Given the description of an element on the screen output the (x, y) to click on. 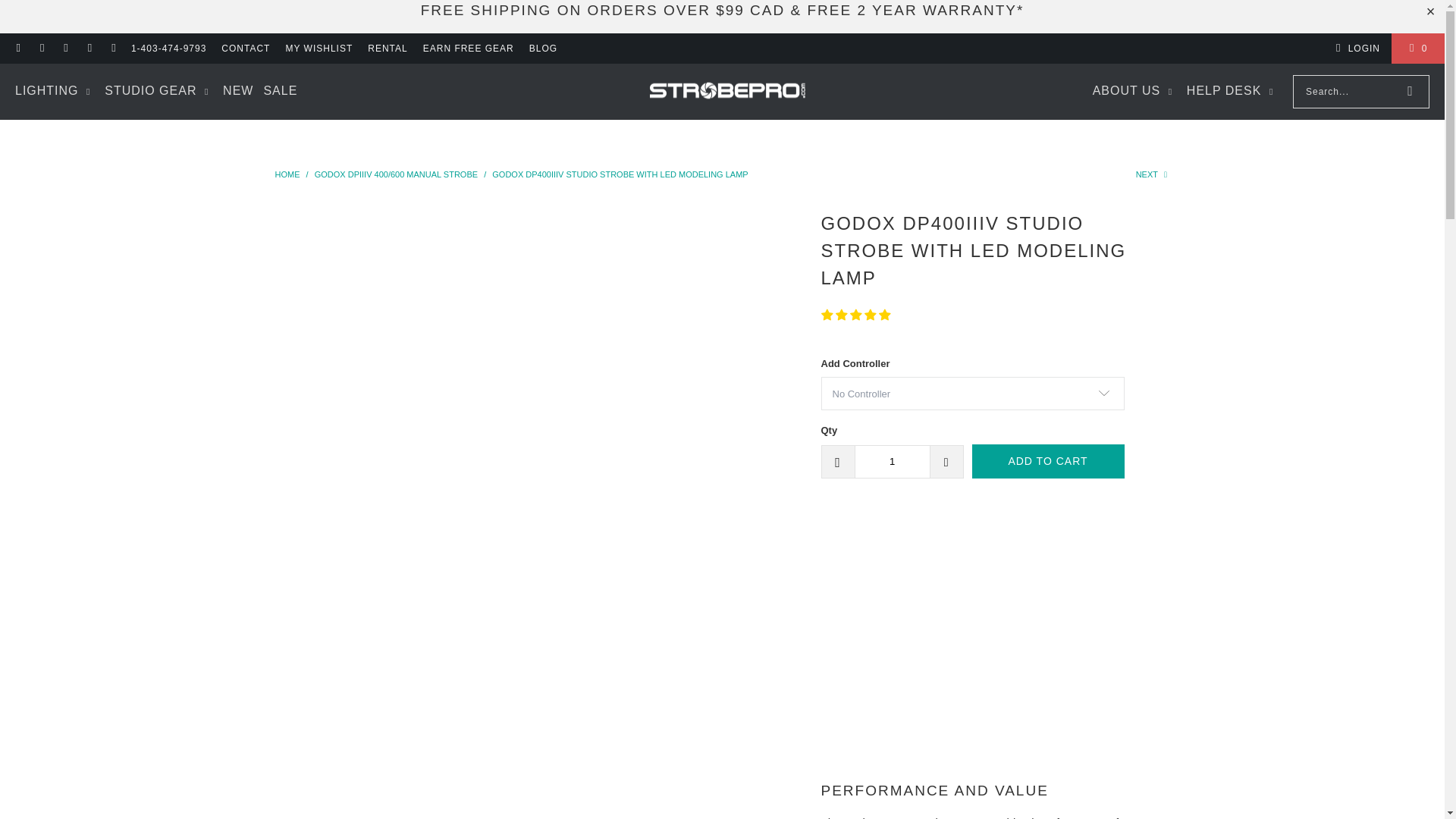
Email Strobepro Studio Lighting (17, 47)
Strobepro Studio Lighting (288, 174)
YouTube video player (1032, 642)
Next (1152, 174)
My Account  (1355, 48)
Strobepro Studio Lighting (727, 92)
Strobepro Studio Lighting on Facebook (41, 47)
Strobepro Studio Lighting on YouTube (112, 47)
Strobepro Studio Lighting on Instagram (65, 47)
Strobepro Studio Lighting on Twitter (89, 47)
